Given the description of an element on the screen output the (x, y) to click on. 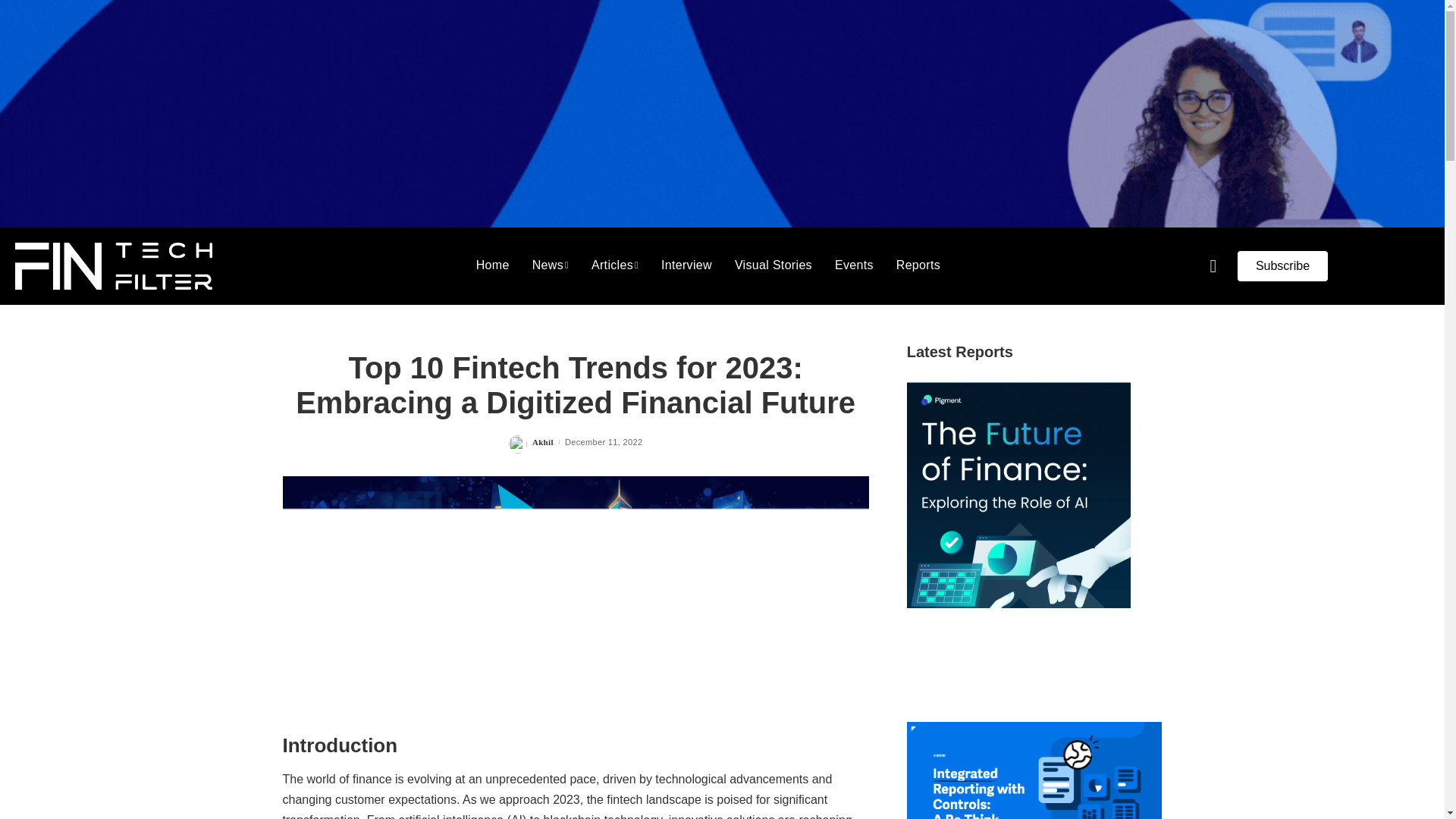
Home (492, 266)
News (550, 266)
